Given the description of an element on the screen output the (x, y) to click on. 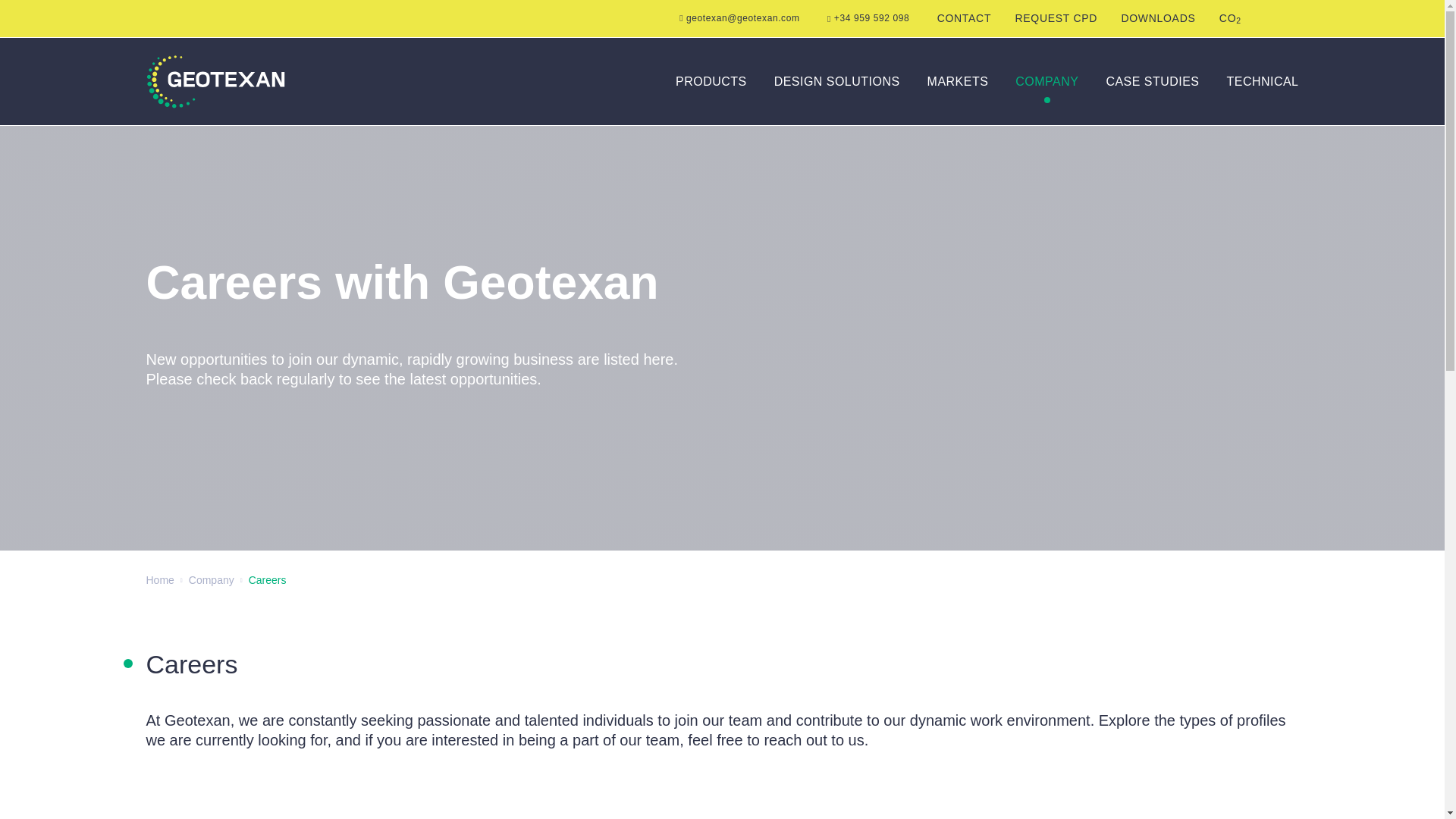
REQUEST CPD (1229, 18)
DOWNLOADS (1057, 18)
Ga naar Company. (1157, 18)
Go to Geotexan. (211, 580)
PRODUCTS (159, 580)
CONTACT (710, 81)
